Given the description of an element on the screen output the (x, y) to click on. 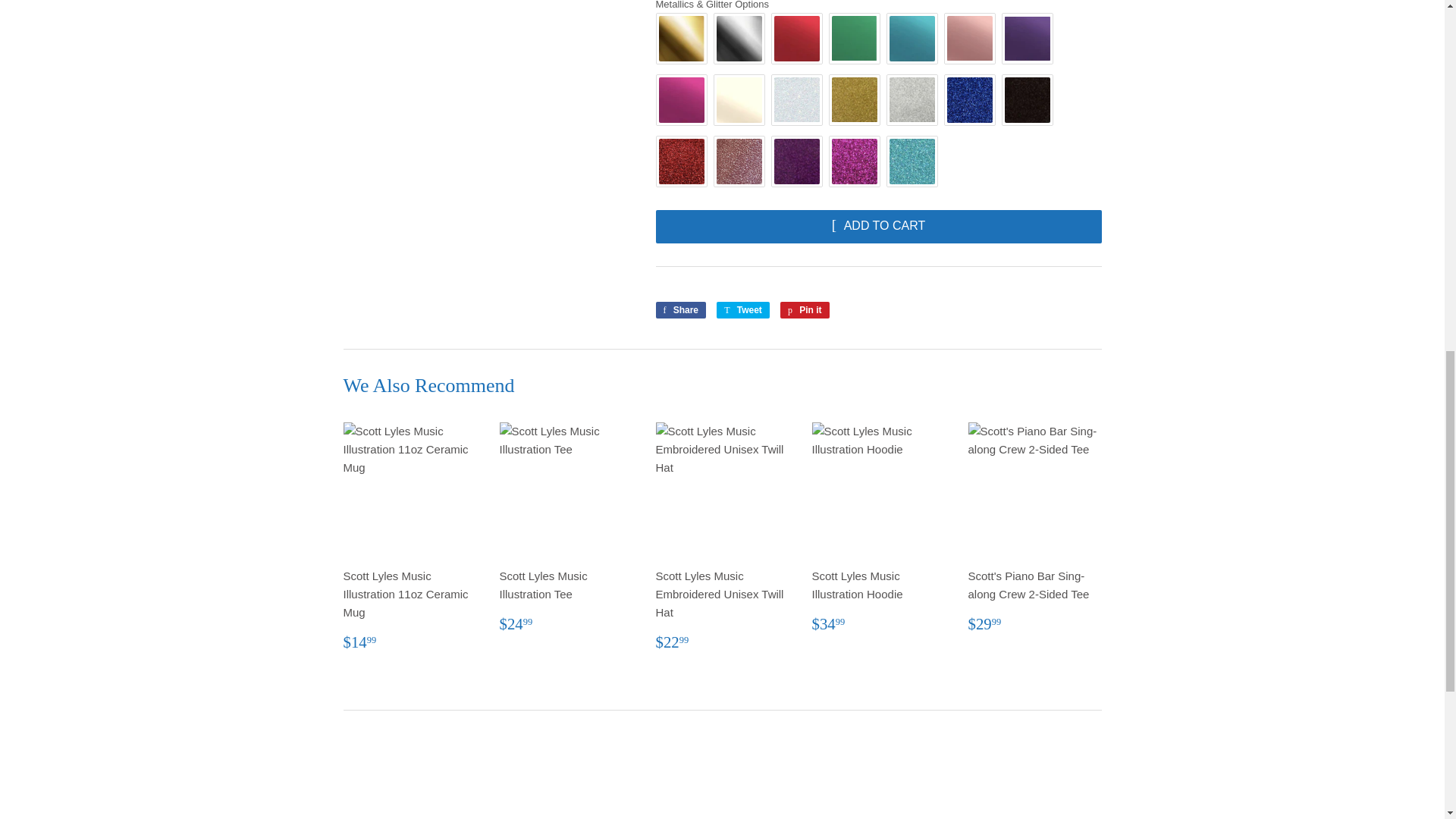
Pin on Pinterest (804, 310)
Share on Facebook (680, 310)
Tweet on Twitter (743, 310)
